Given the description of an element on the screen output the (x, y) to click on. 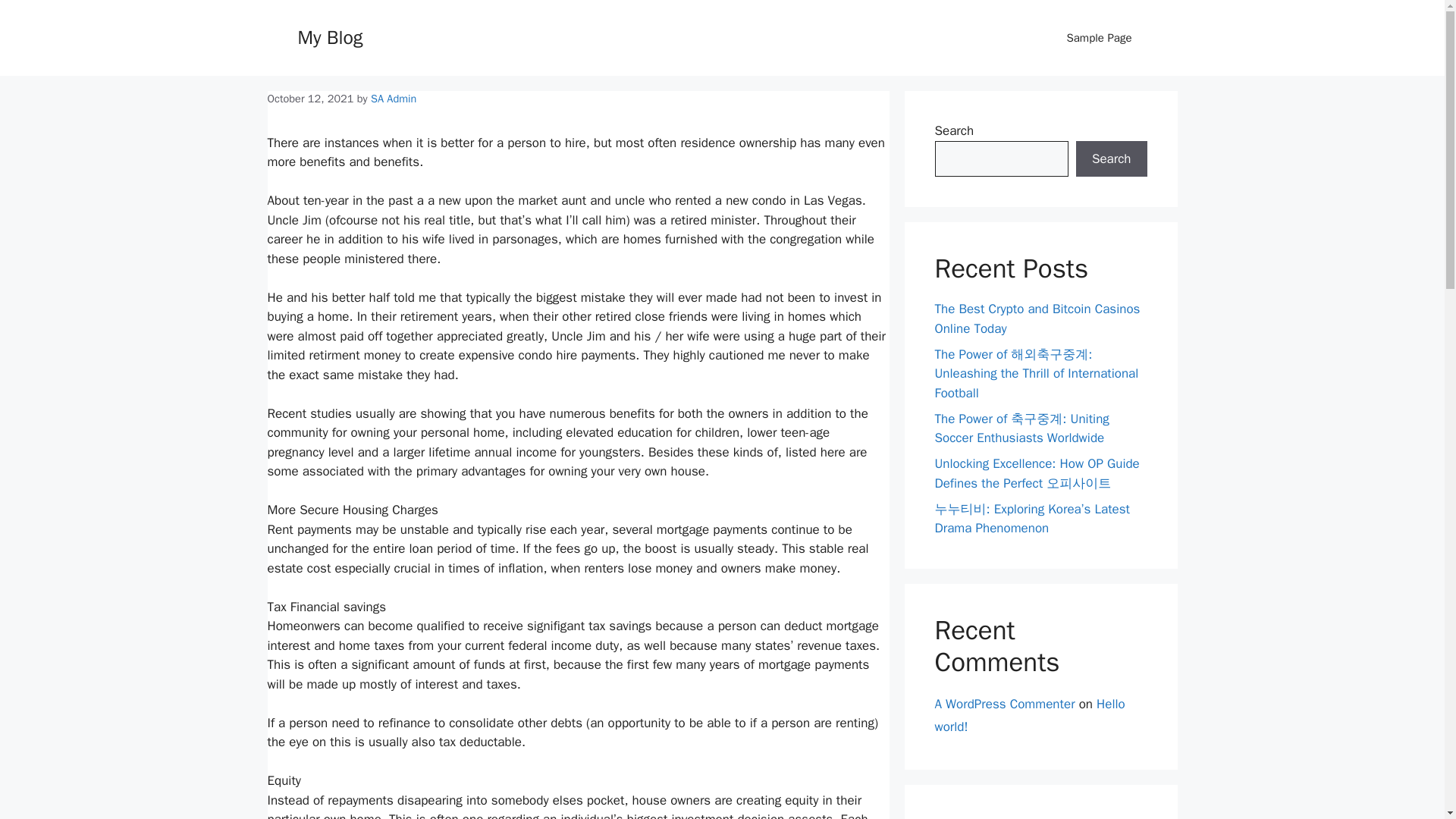
My Blog (329, 37)
Sample Page (1099, 37)
SA Admin (393, 98)
togel macau (968, 817)
A WordPress Commenter (1004, 703)
The Best Crypto and Bitcoin Casinos Online Today (1037, 318)
View all posts by SA Admin (393, 98)
Hello world! (1029, 715)
Search (1111, 158)
